Given the description of an element on the screen output the (x, y) to click on. 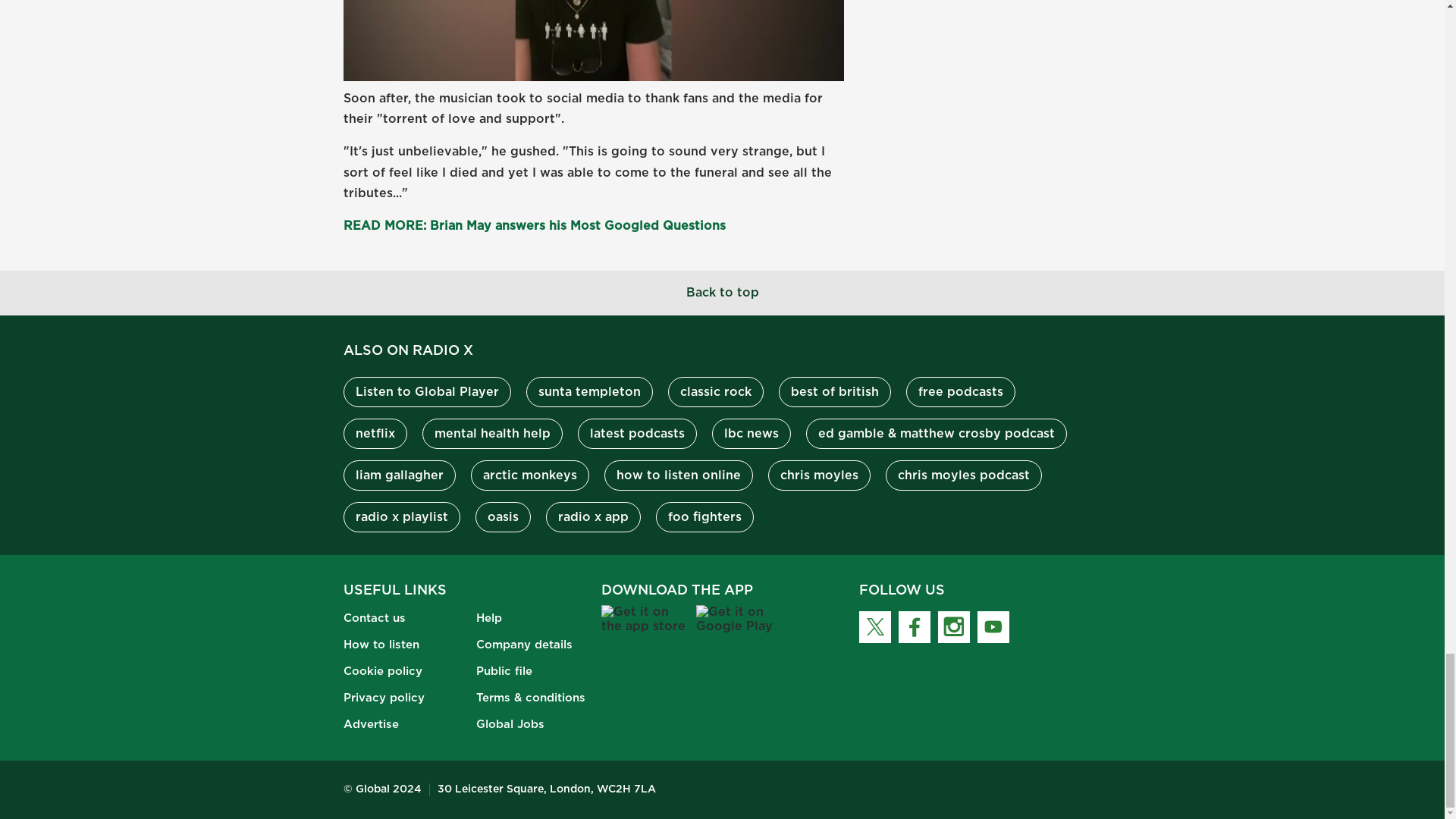
Follow RadioX on X (874, 626)
READ MORE: Brian May answers his Most Googled Questions (533, 225)
Back to top (721, 292)
Follow RadioX on Youtube (992, 626)
Follow RadioX on Facebook (914, 626)
Follow RadioX on Instagram (953, 626)
